Given the description of an element on the screen output the (x, y) to click on. 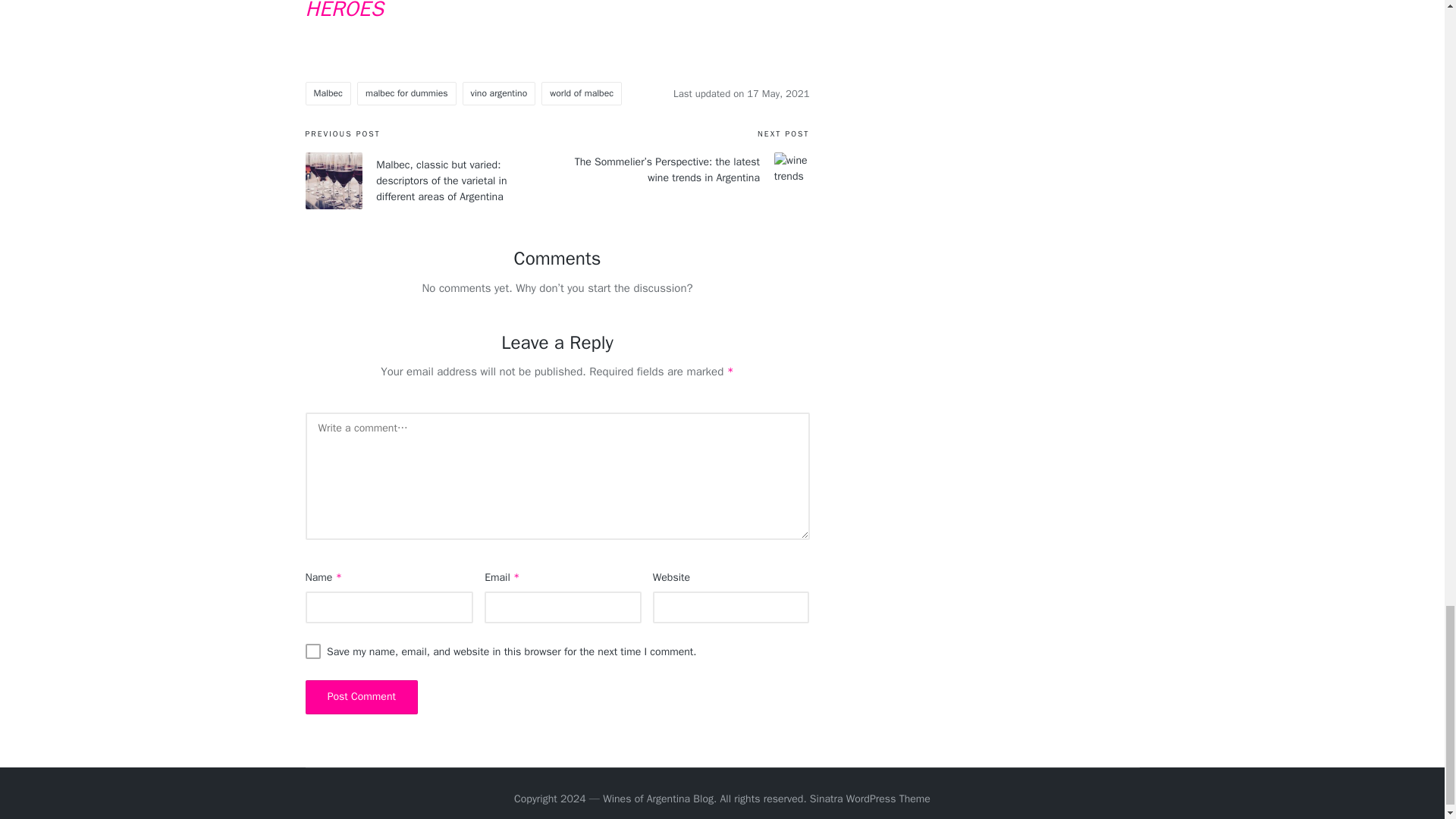
Post Comment (360, 697)
Malbec (327, 92)
malbec for dummies (406, 92)
yes (312, 651)
vino argentino (499, 92)
world of malbec (581, 92)
Post Comment (360, 697)
